Given the description of an element on the screen output the (x, y) to click on. 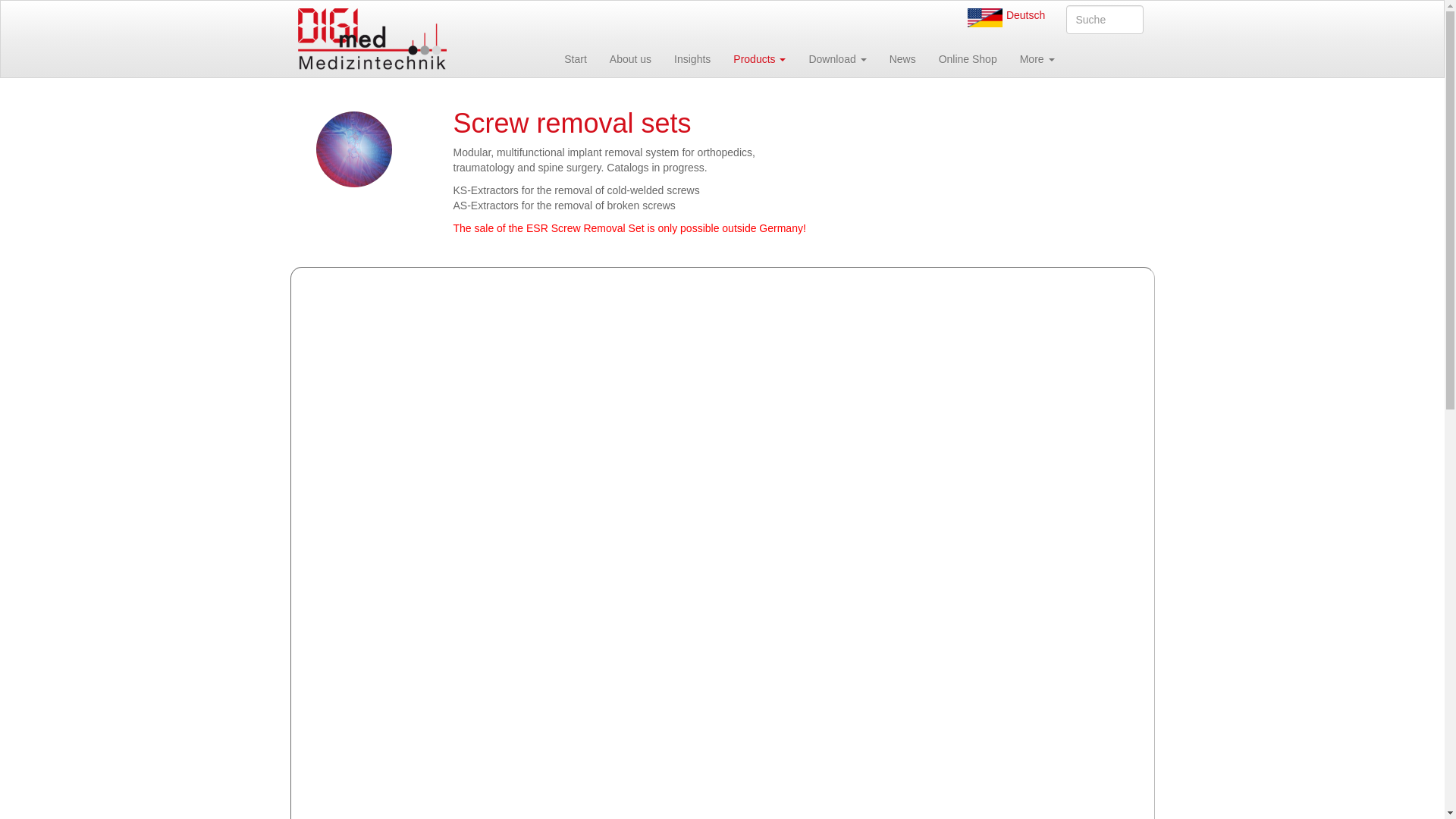
Products (759, 57)
Start (575, 57)
Products Medical technology digimed Tuttlingen Germany (759, 57)
Home Medical technology instruments digimed Tuttlingen (575, 57)
About us production of implants made of steel and titanium (630, 57)
About us (630, 57)
Insights (692, 57)
deutsch english Translate (987, 17)
Deutsch (1025, 15)
